Given the description of an element on the screen output the (x, y) to click on. 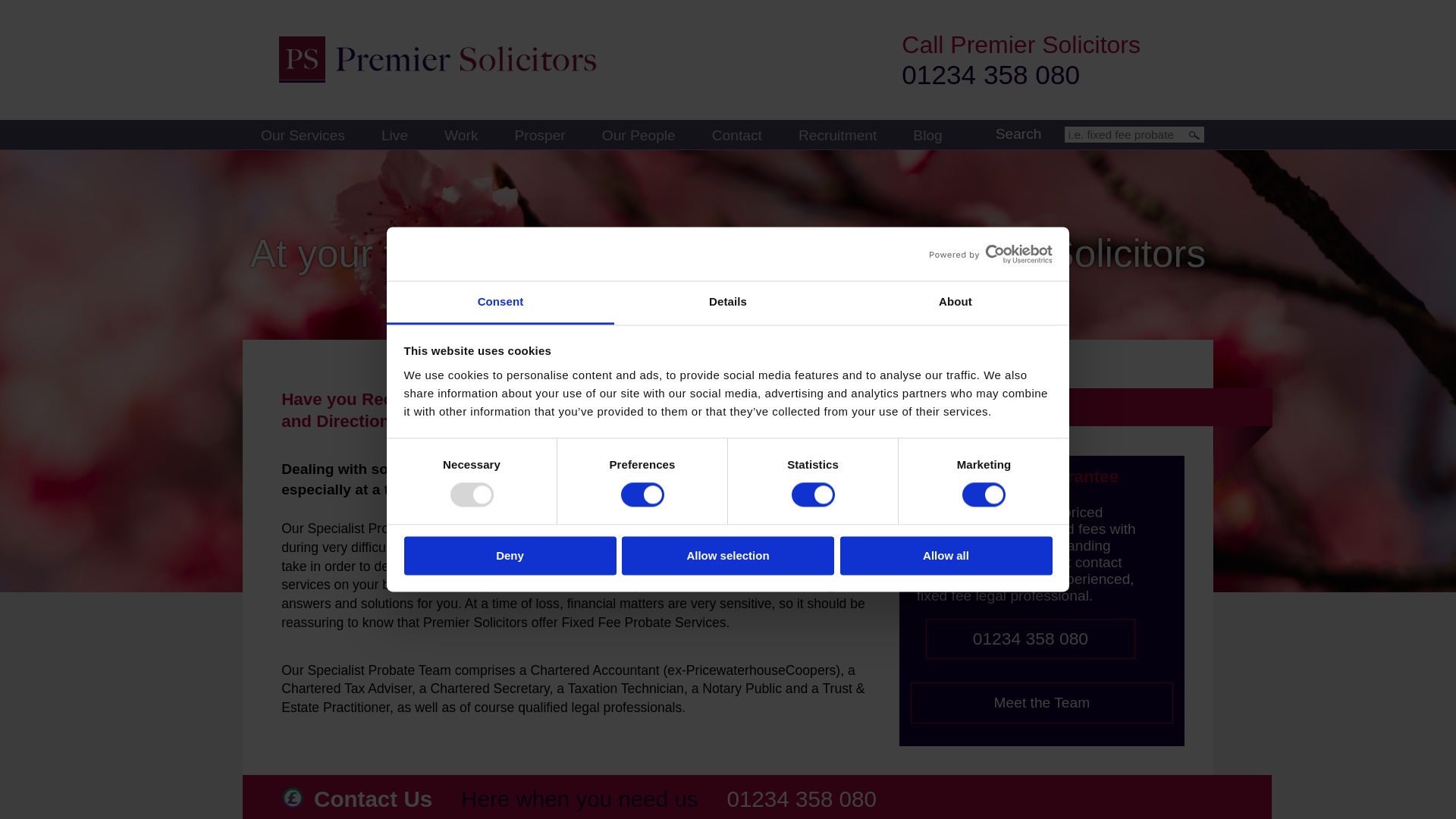
Consent (500, 302)
01234 358 080 (990, 74)
Deny (509, 555)
Allow selection (727, 555)
Allow all (946, 555)
Details (727, 302)
About (954, 302)
01234 358 080 (801, 798)
